Given the description of an element on the screen output the (x, y) to click on. 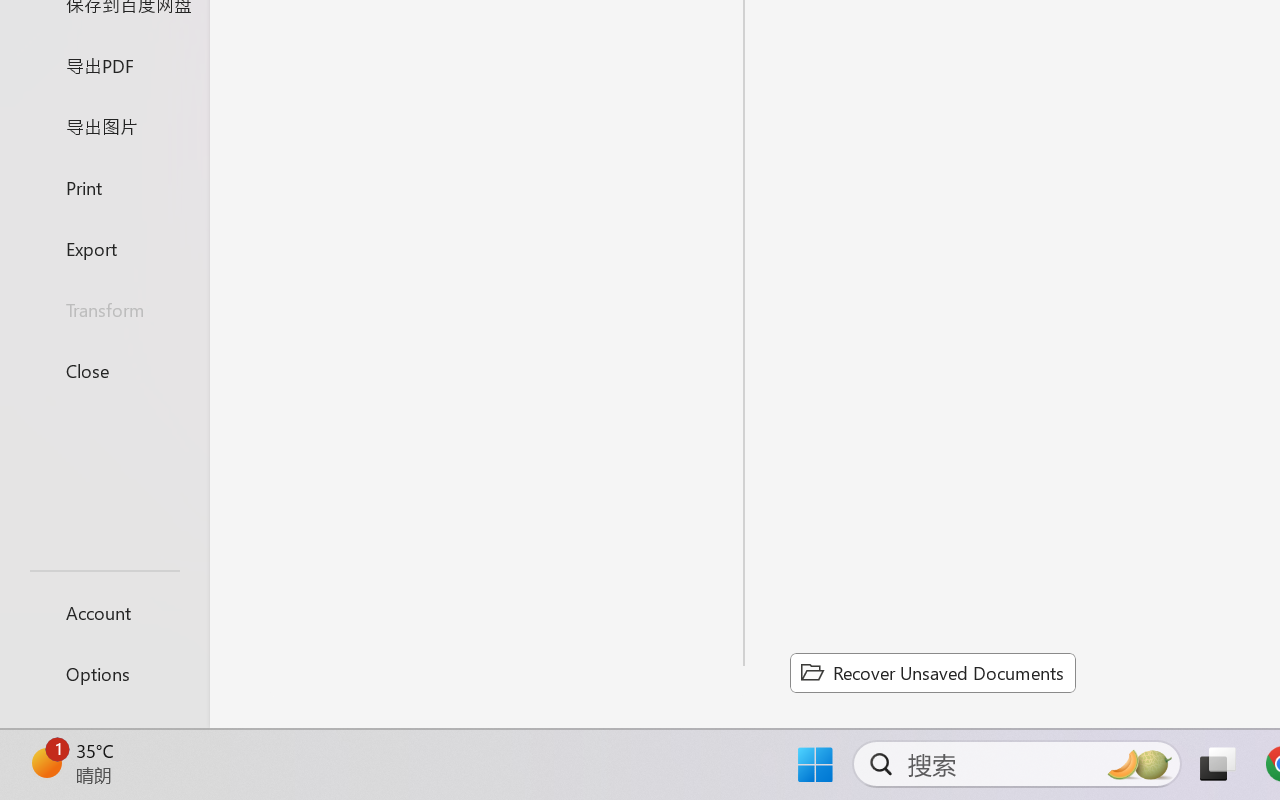
Recover Unsaved Documents (932, 672)
Transform (104, 309)
Account (104, 612)
Export (104, 248)
Options (104, 673)
Print (104, 186)
